Given the description of an element on the screen output the (x, y) to click on. 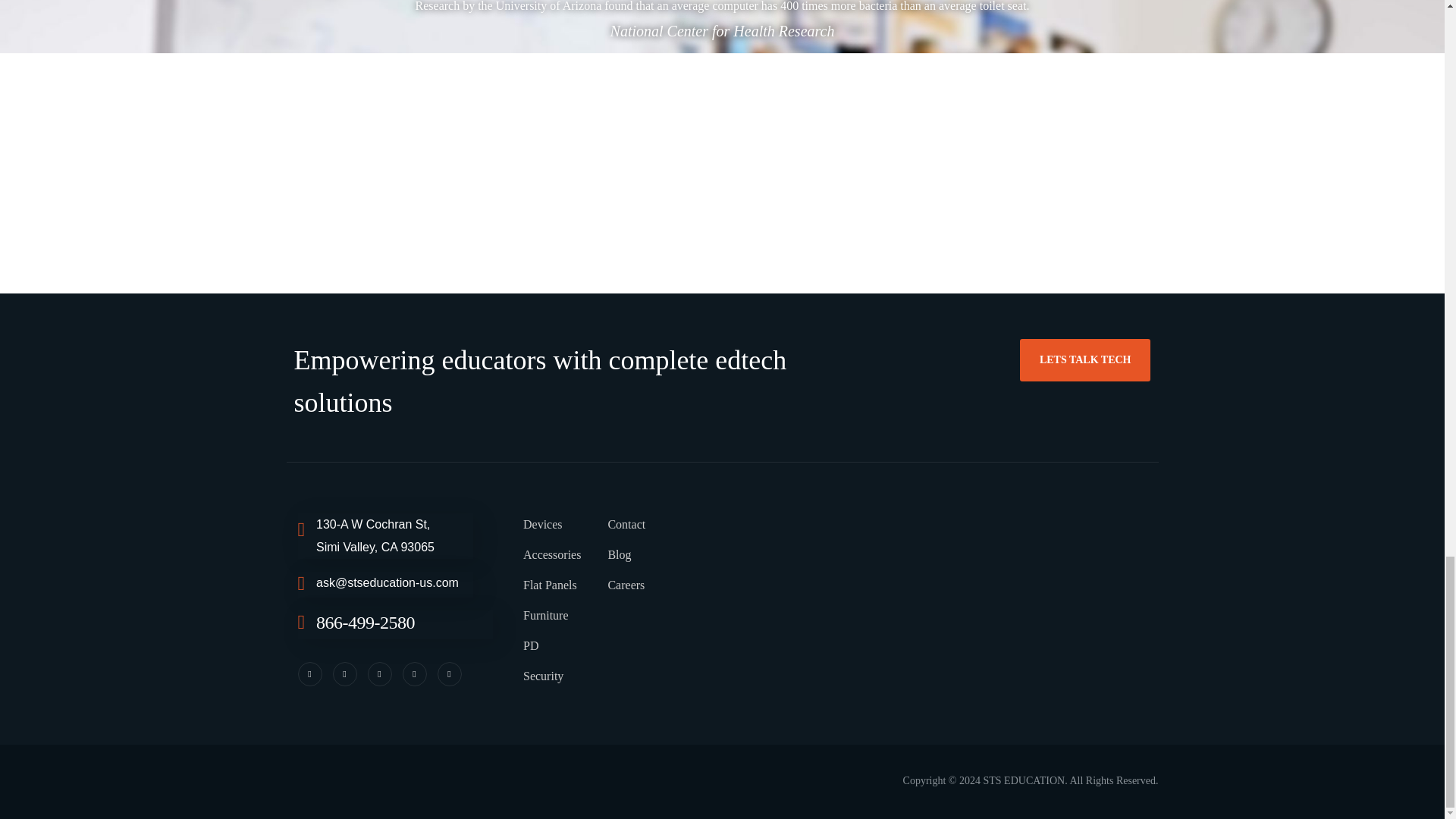
YouTube (448, 673)
Instagram (378, 673)
Facebook (343, 673)
Twitter (309, 673)
LinkedIn (413, 673)
